Given the description of an element on the screen output the (x, y) to click on. 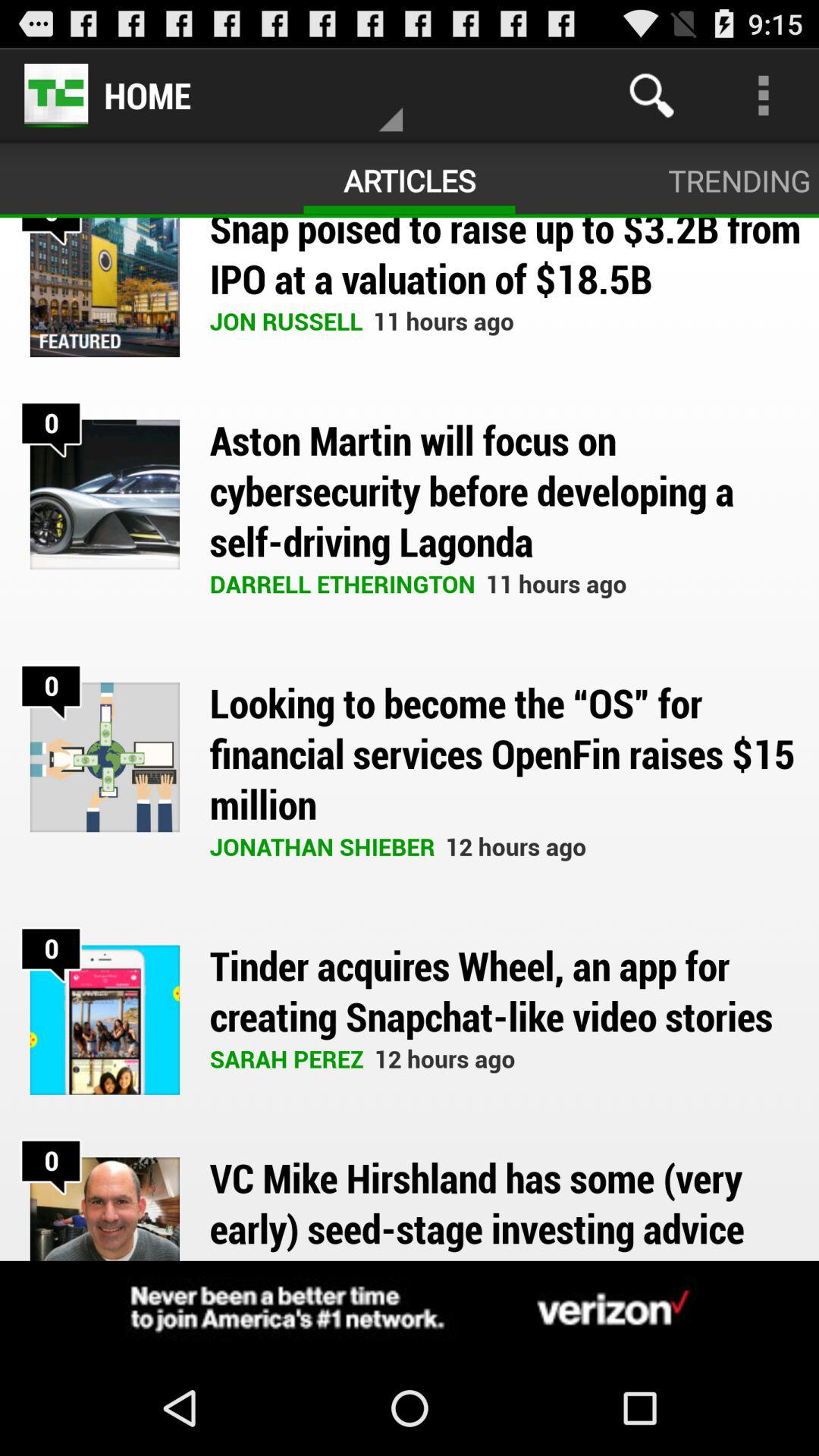
go to the image below home text (104, 286)
select the last image in the page (104, 1208)
select the last but one image in the page (104, 1019)
